Given the description of an element on the screen output the (x, y) to click on. 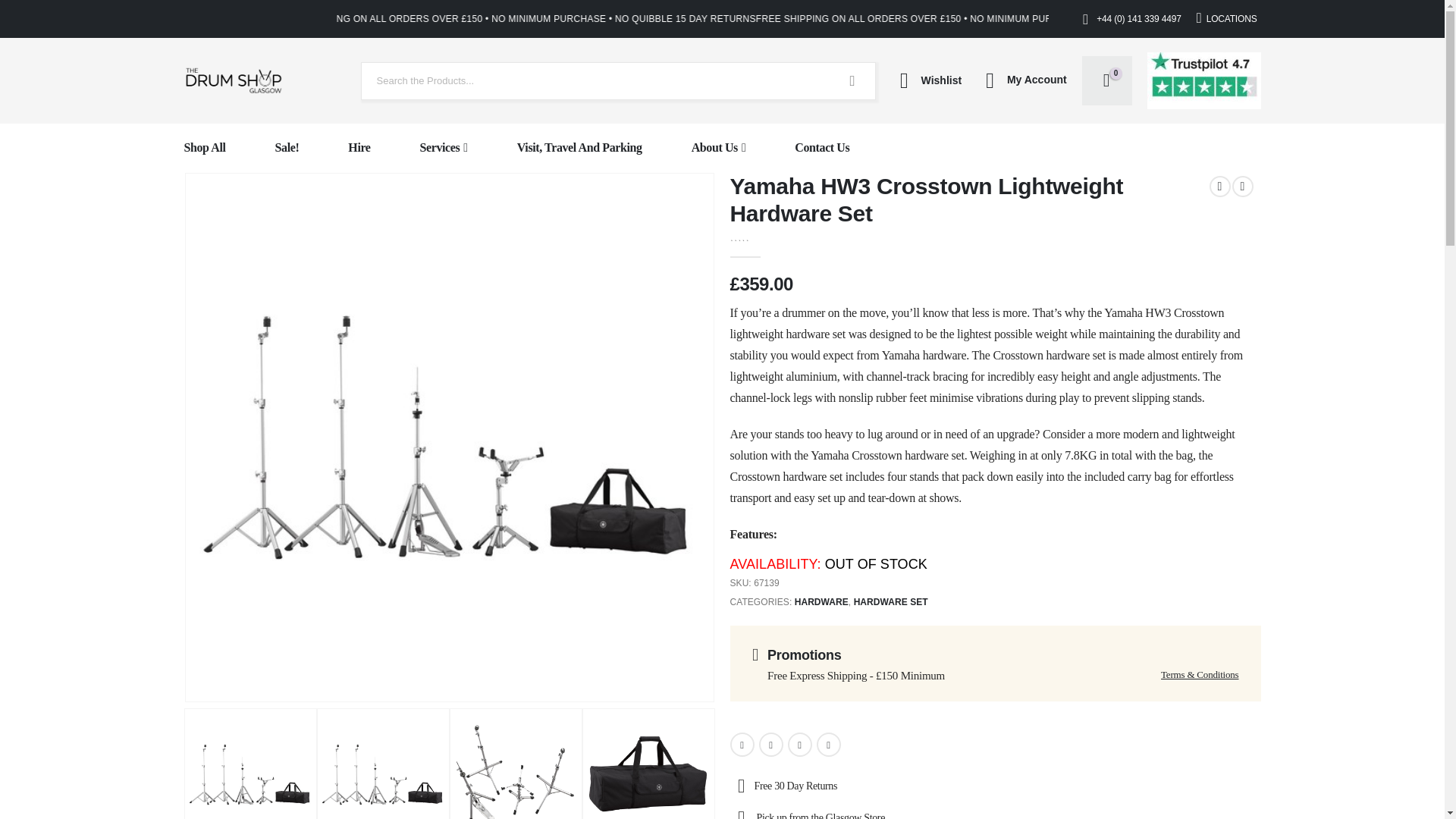
trust-pilot4.7 (1203, 80)
0 (756, 235)
Facebook (741, 744)
Wishlist (925, 80)
LinkedIn (799, 744)
LOCATIONS (1226, 18)
LinkedIn (799, 744)
Twitter (770, 744)
Search (852, 80)
Visit, Travel And Parking (579, 147)
HARDWARE SET (890, 602)
Contact Us (821, 147)
Services (443, 147)
HARDWARE (821, 602)
